Given the description of an element on the screen output the (x, y) to click on. 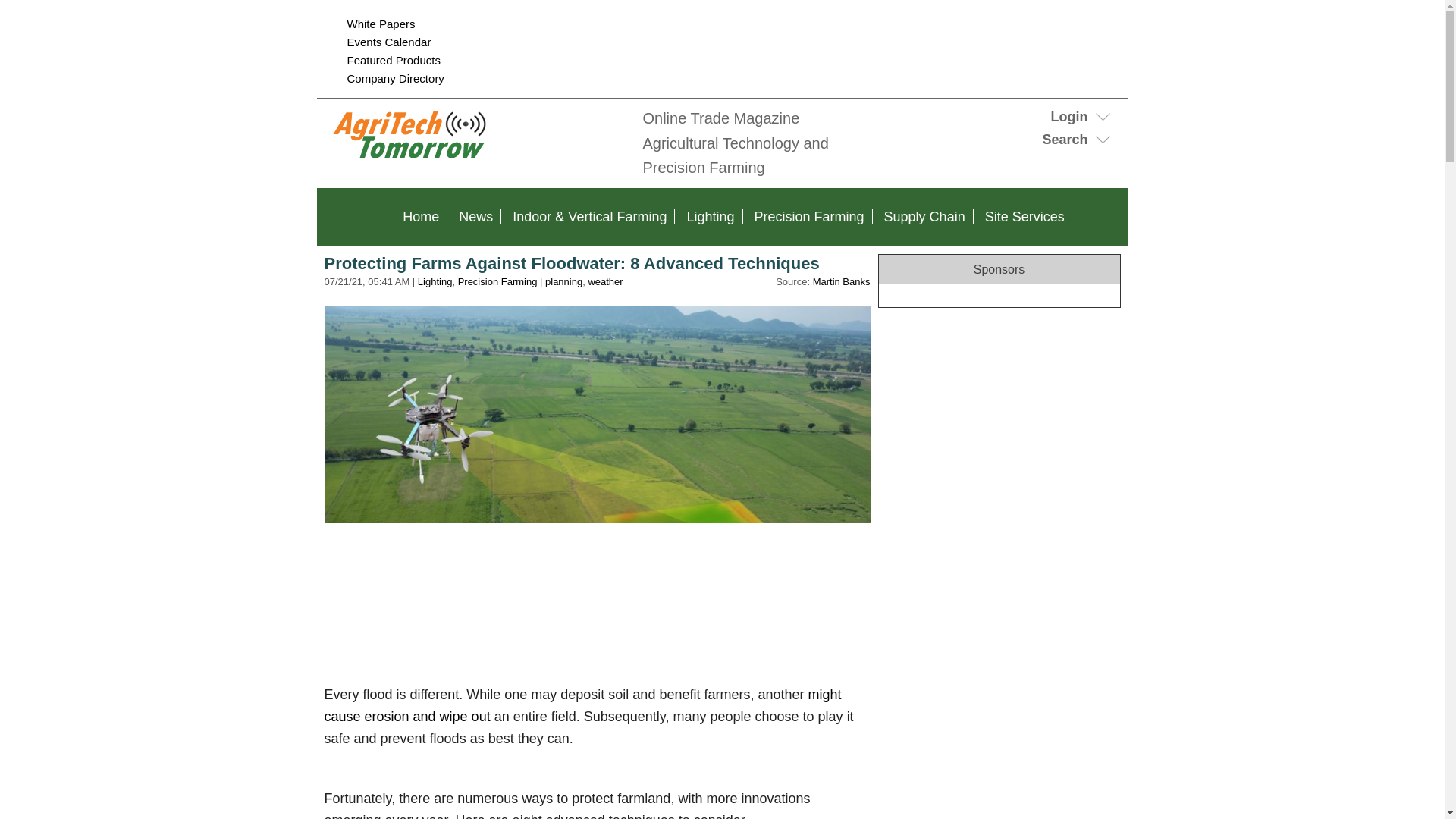
AgriTechTomorrow (475, 159)
Precision Farming (497, 281)
White Papers (380, 23)
weather (605, 281)
Lighting (709, 217)
Precision Farming (809, 217)
Martin Banks (841, 281)
Home (420, 217)
Site Services (1023, 217)
Featured Products (394, 60)
